Given the description of an element on the screen output the (x, y) to click on. 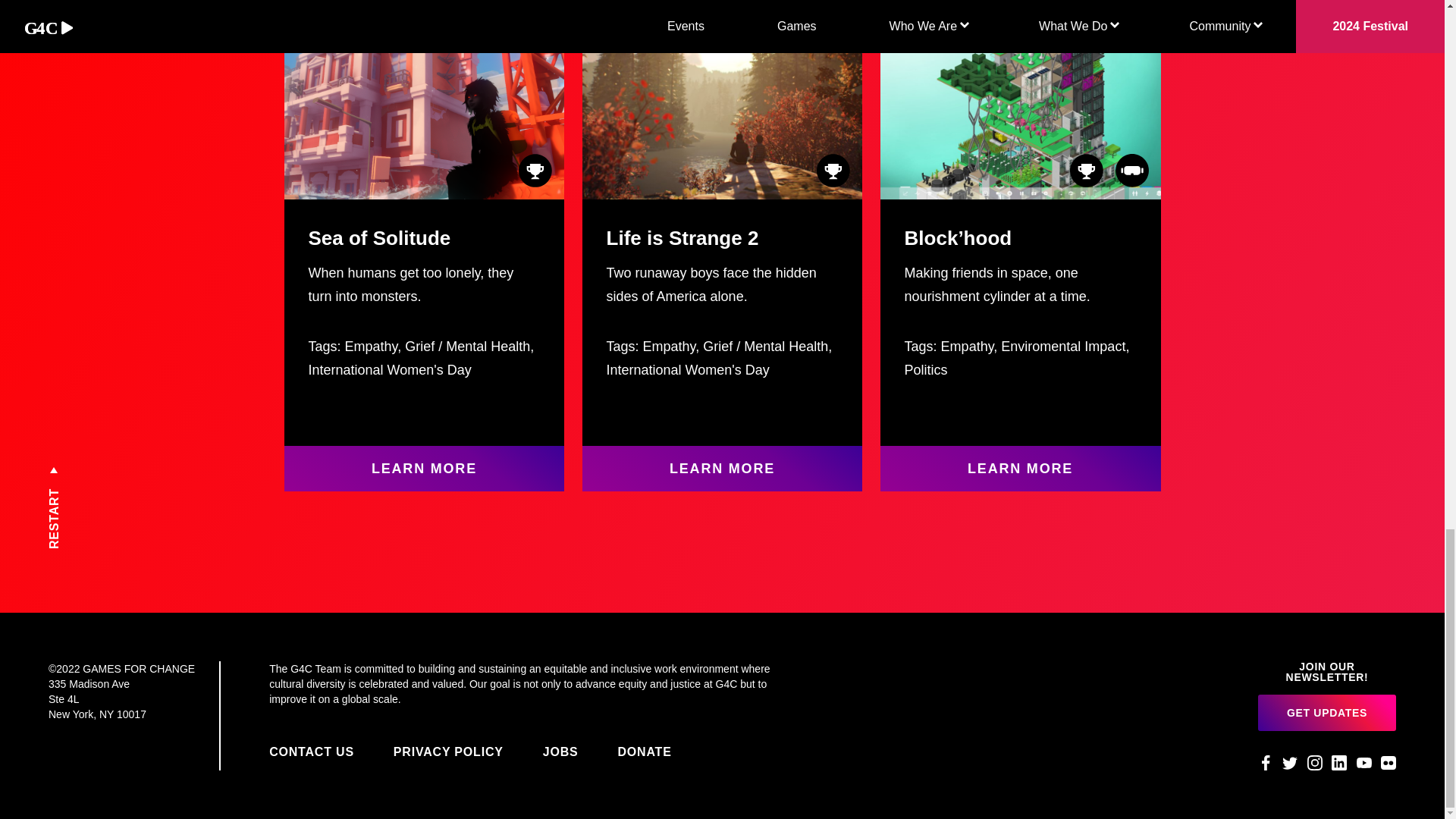
Award Winning (827, 170)
Award Winning (528, 170)
Award Winning (1079, 170)
VR Compatible (1125, 170)
